Given the description of an element on the screen output the (x, y) to click on. 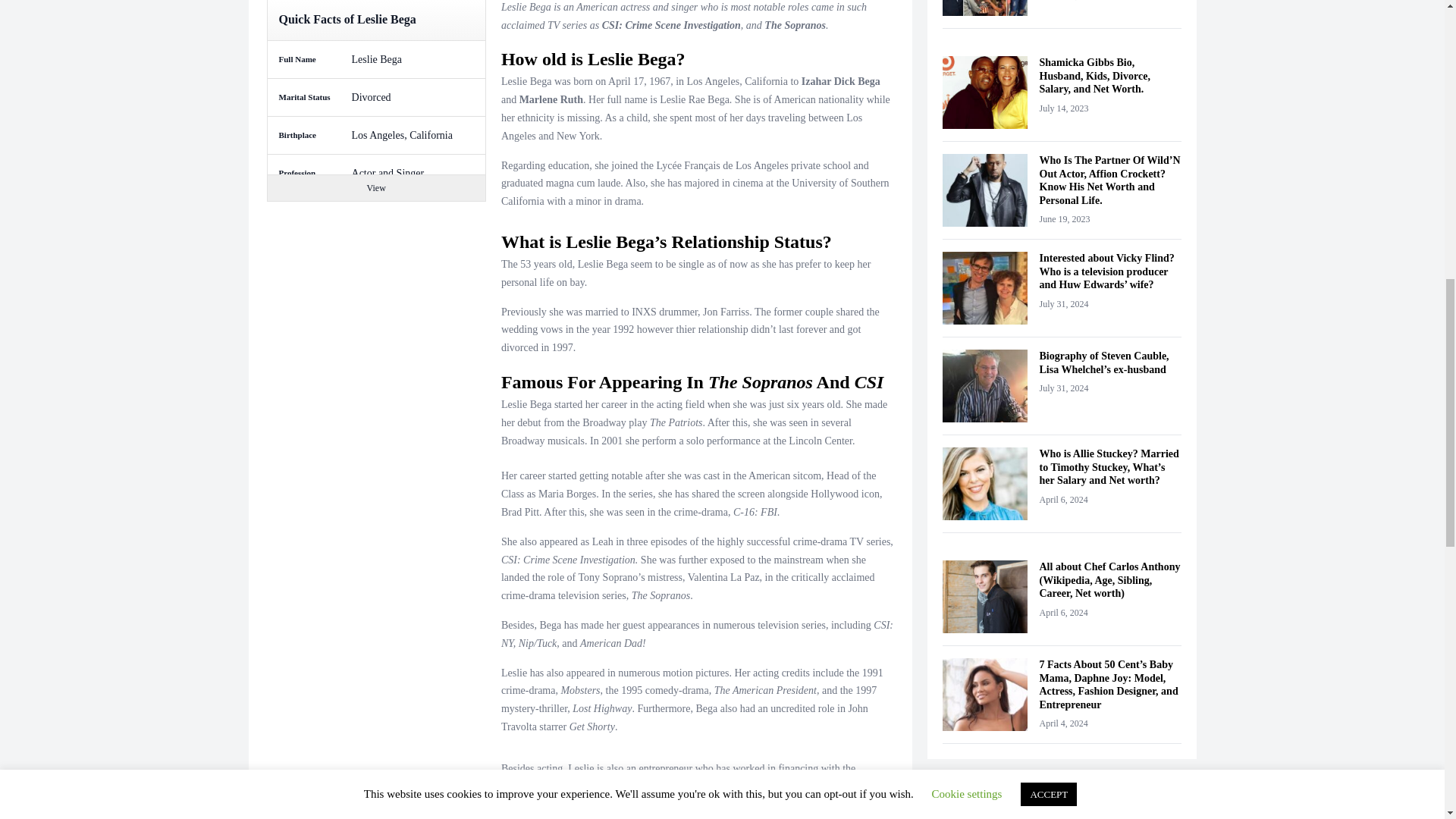
Search (1156, 804)
Search (1156, 804)
